Given the description of an element on the screen output the (x, y) to click on. 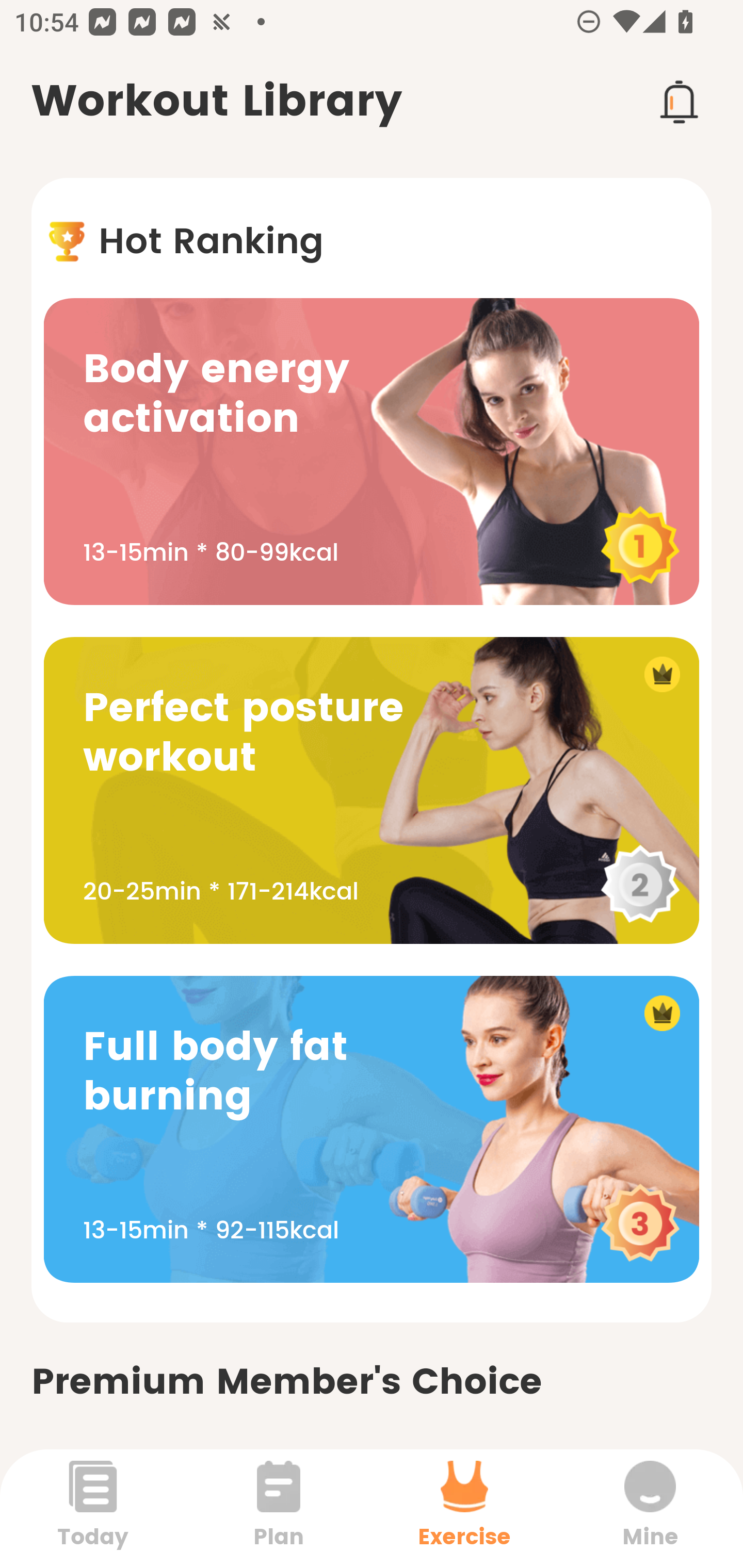
Body energy activation 13-15min * 80-99kcal (371, 451)
Perfect posture workout 20-25min * 171-214kcal (371, 789)
Full body fat burning 13-15min * 92-115kcal (371, 1128)
Today (92, 1508)
Plan (278, 1508)
Mine (650, 1508)
